Given the description of an element on the screen output the (x, y) to click on. 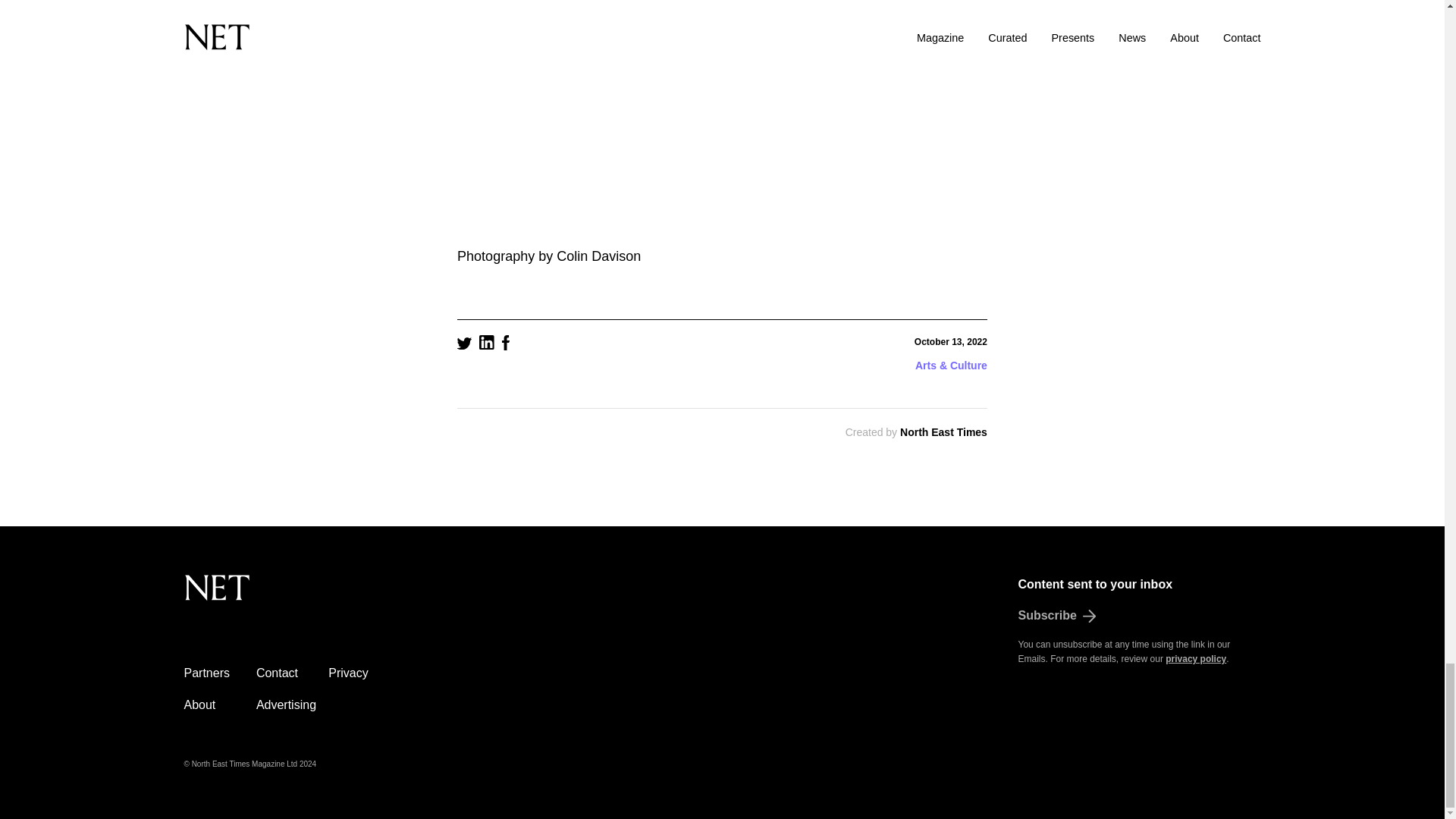
Share this post on Facebook (505, 345)
Subscribe (1138, 615)
Share this post on LinkedIn (487, 344)
Share this post on Twitter (464, 345)
Read our full privacy notice (1195, 658)
Subscribe to the North East Times Magazine newsletter (1138, 615)
Privacy (348, 672)
Return to the top of this page (293, 595)
About (199, 704)
Advertising (285, 704)
privacy policy (1195, 658)
Contact (277, 672)
Partners (205, 672)
